Given the description of an element on the screen output the (x, y) to click on. 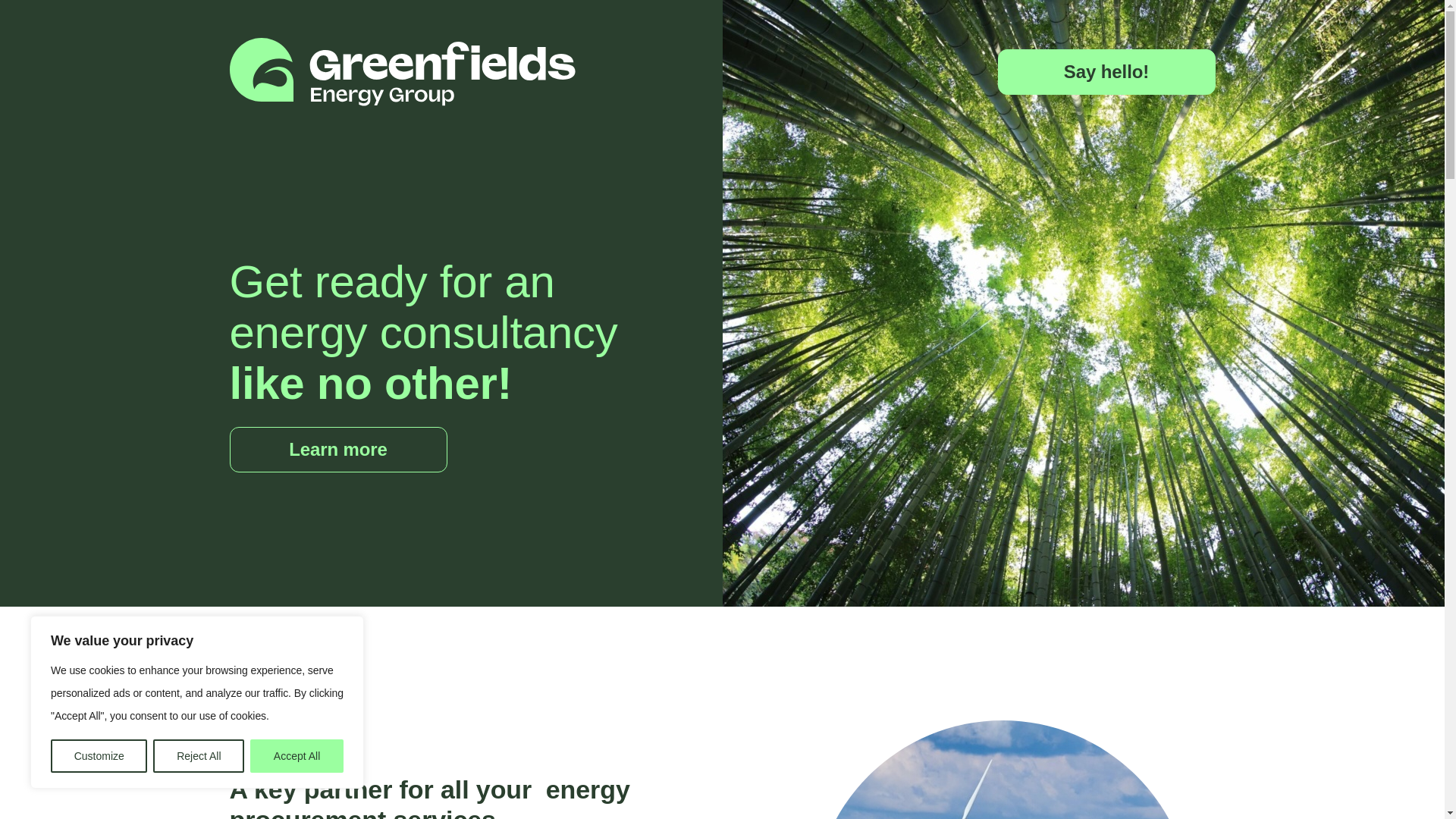
Customize (98, 756)
Reject All (198, 756)
Say hello! (1106, 72)
Accept All (296, 756)
Learn more (337, 448)
